Given the description of an element on the screen output the (x, y) to click on. 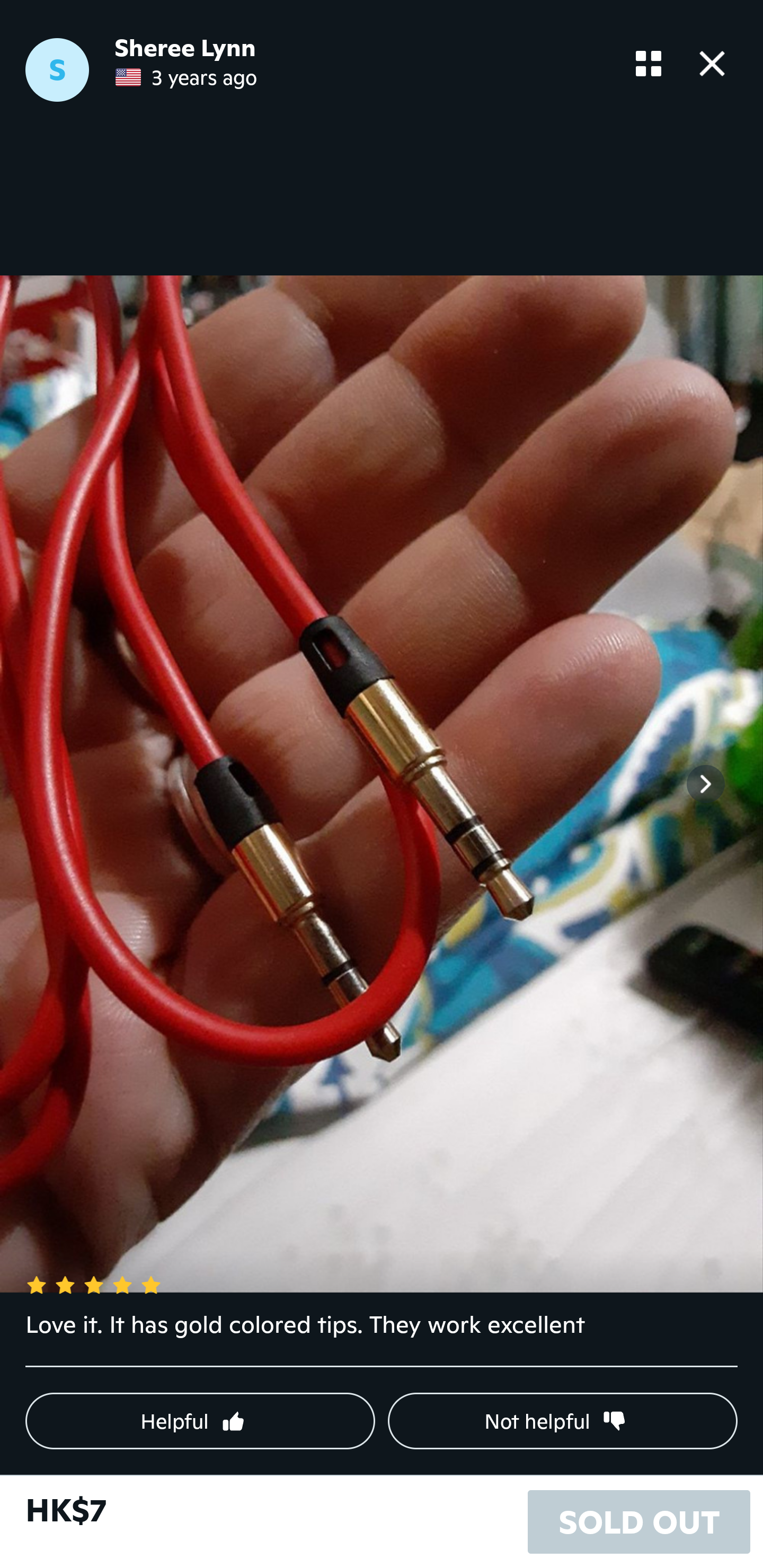
Sheree Lynn (184, 47)
S (57, 69)
3 years ago (185, 77)
Helpful (200, 1420)
Not helpful (562, 1420)
